Given the description of an element on the screen output the (x, y) to click on. 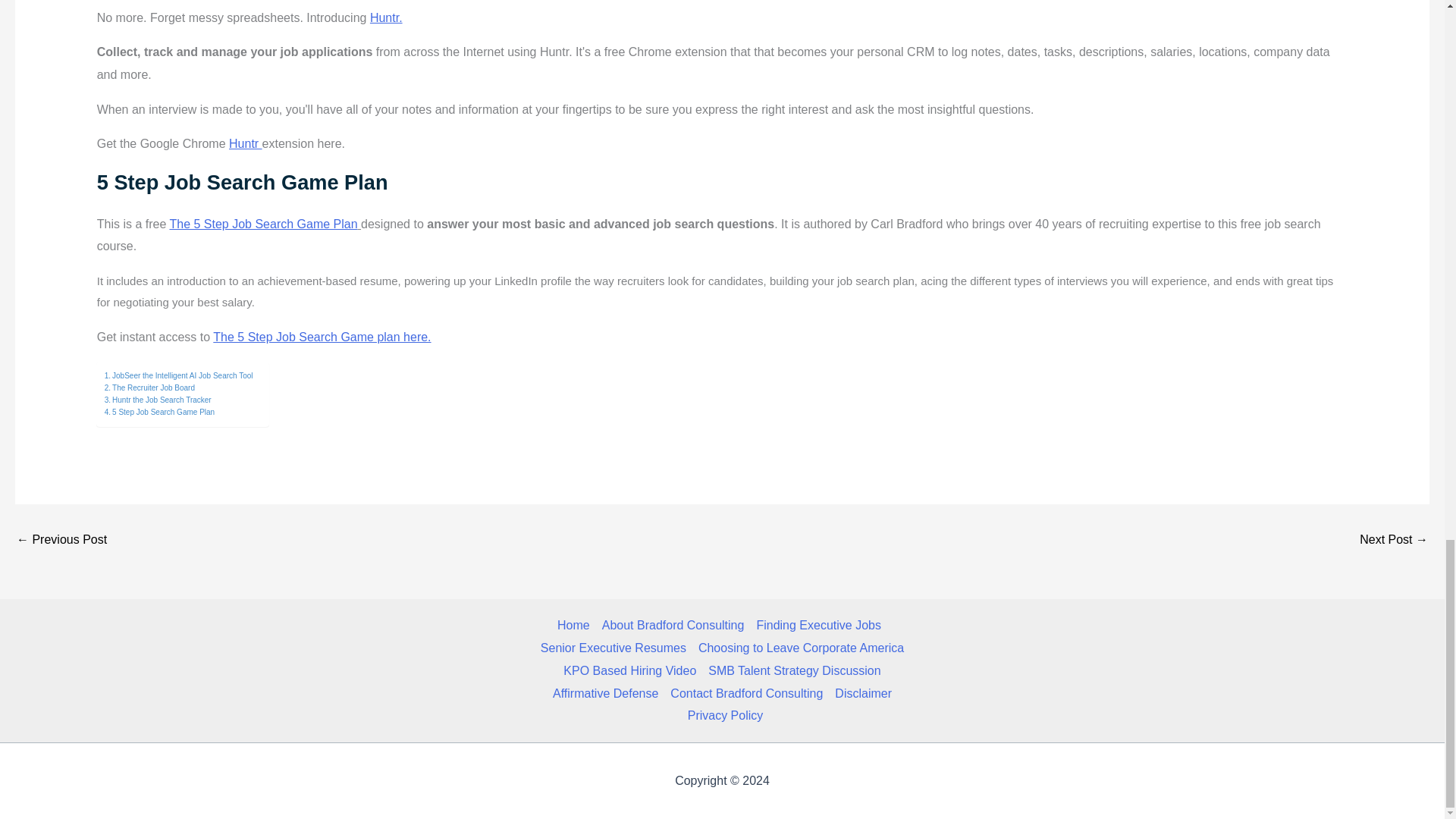
Huntr the Job Search Tracker (157, 399)
5 Step Job Search Game Plan (159, 412)
JobSeer the Intelligent AI Job Search Tool (178, 376)
The Recruiter Job Board (149, 387)
